Given the description of an element on the screen output the (x, y) to click on. 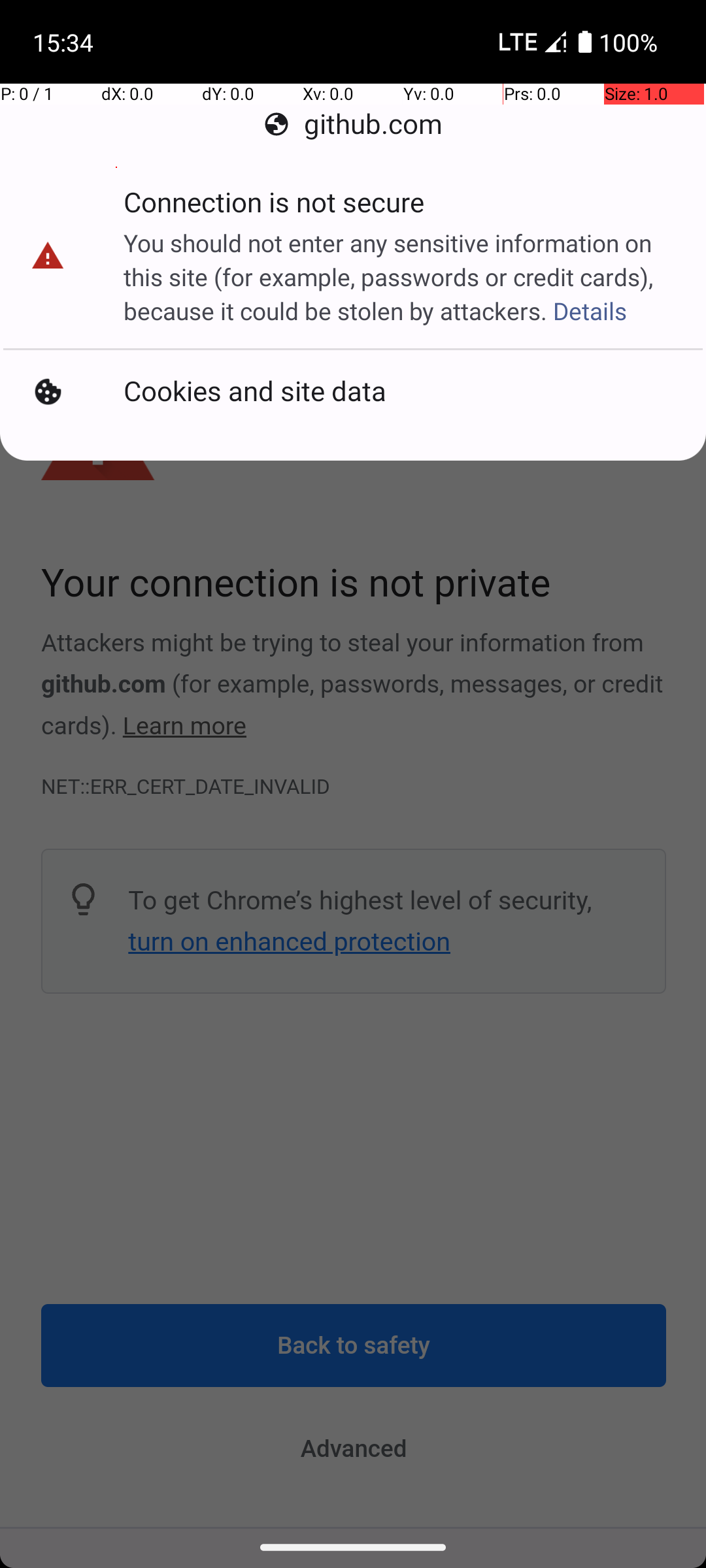
github.com Element type: android.widget.TextView (352, 124)
